Given the description of an element on the screen output the (x, y) to click on. 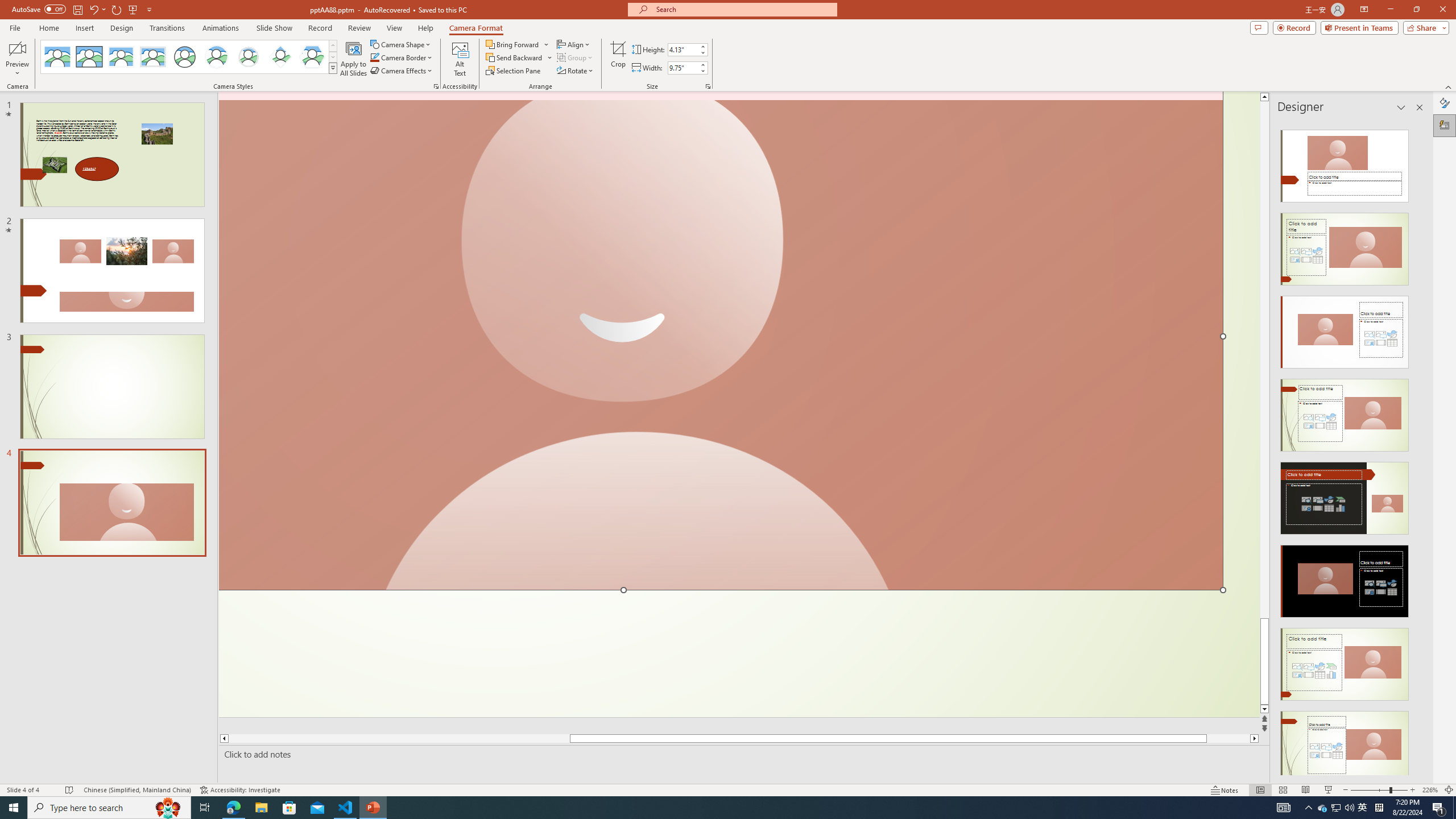
Simple Frame Rectangle (88, 56)
Center Shadow Hexagon (312, 56)
Enable Camera Preview (17, 48)
